Given the description of an element on the screen output the (x, y) to click on. 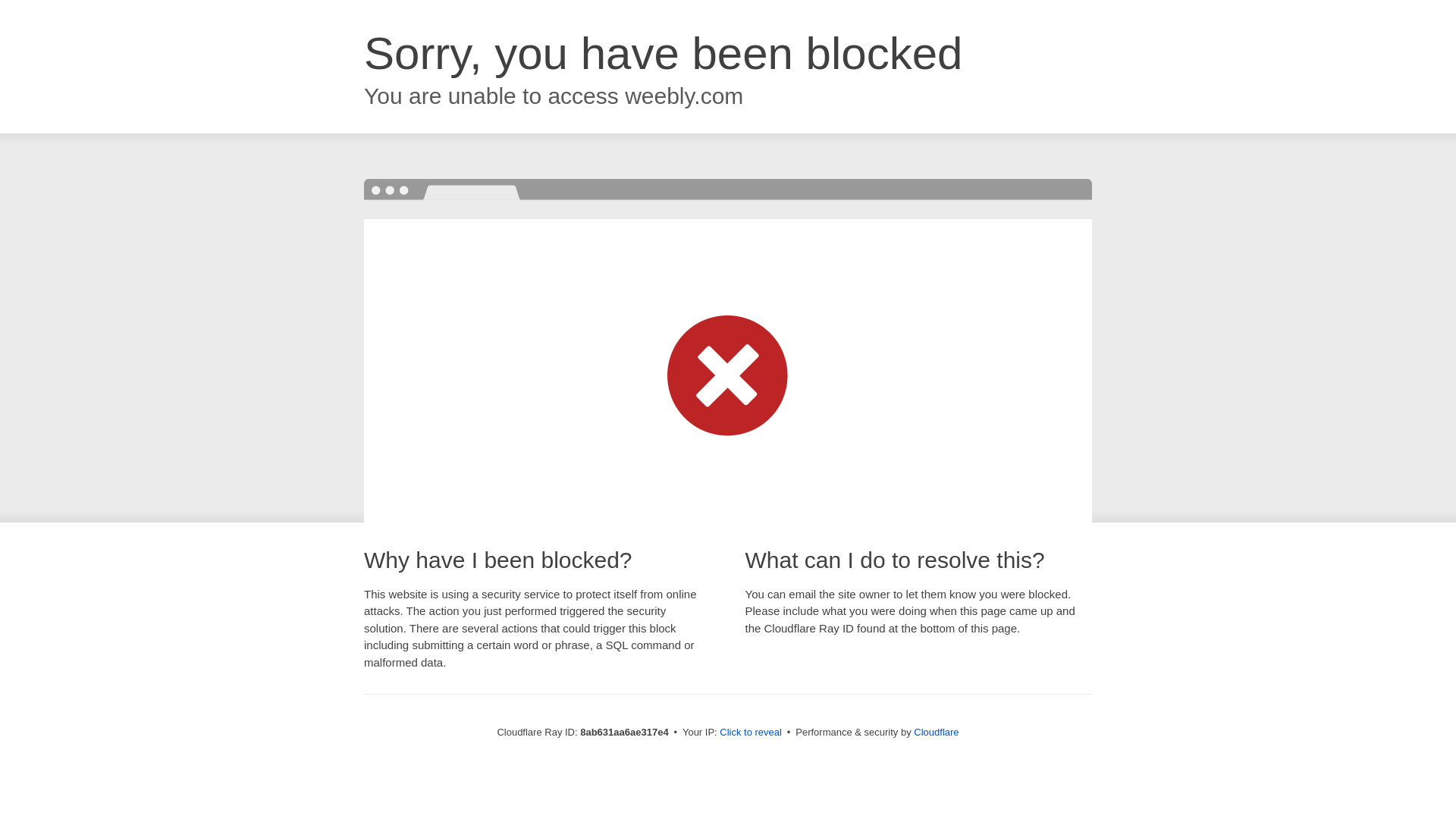
Cloudflare (936, 731)
Click to reveal (750, 732)
